Given the description of an element on the screen output the (x, y) to click on. 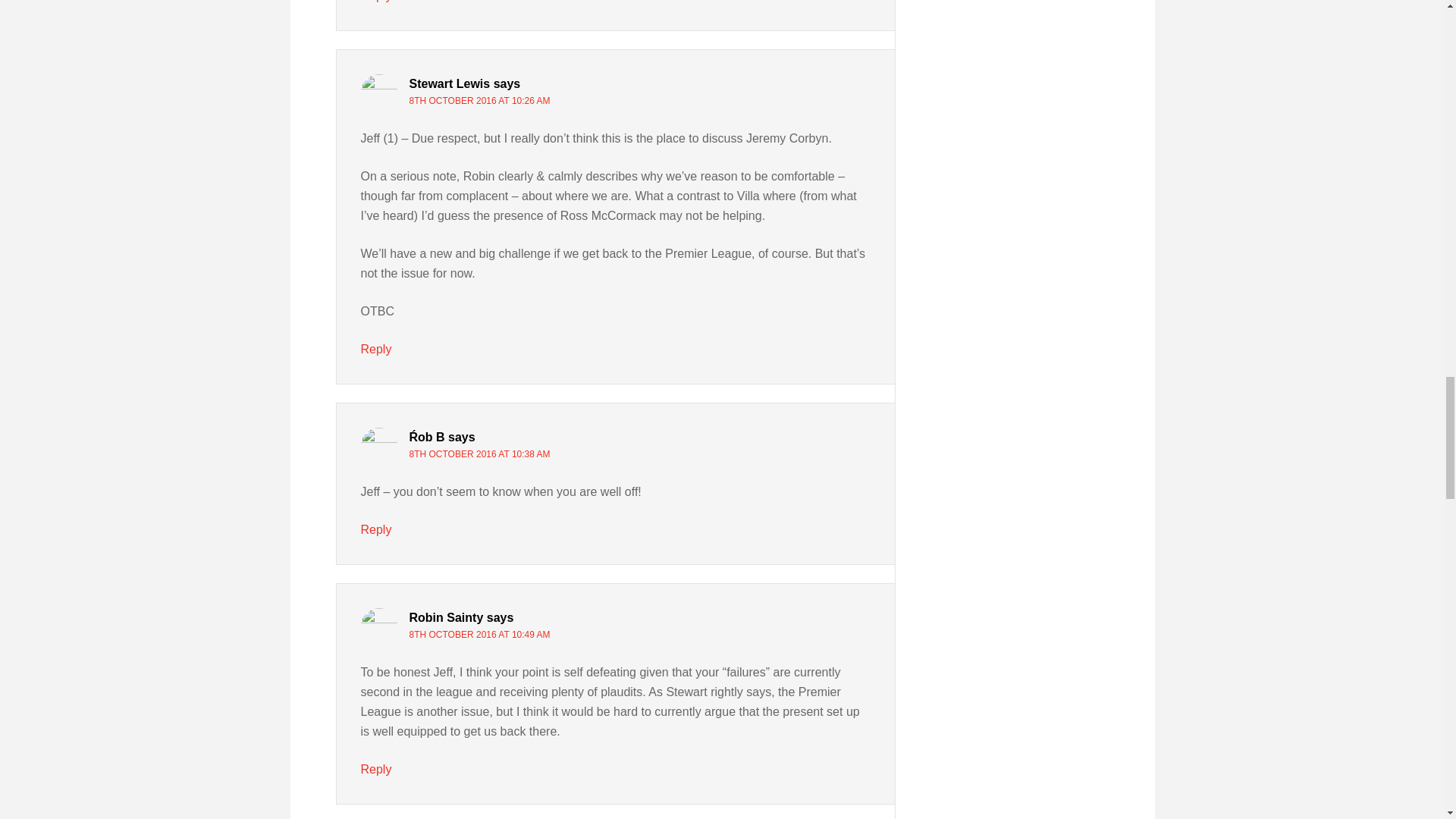
8TH OCTOBER 2016 AT 10:38 AM (479, 453)
Reply (376, 349)
8TH OCTOBER 2016 AT 10:26 AM (479, 100)
Reply (376, 529)
Reply (376, 1)
